Given the description of an element on the screen output the (x, y) to click on. 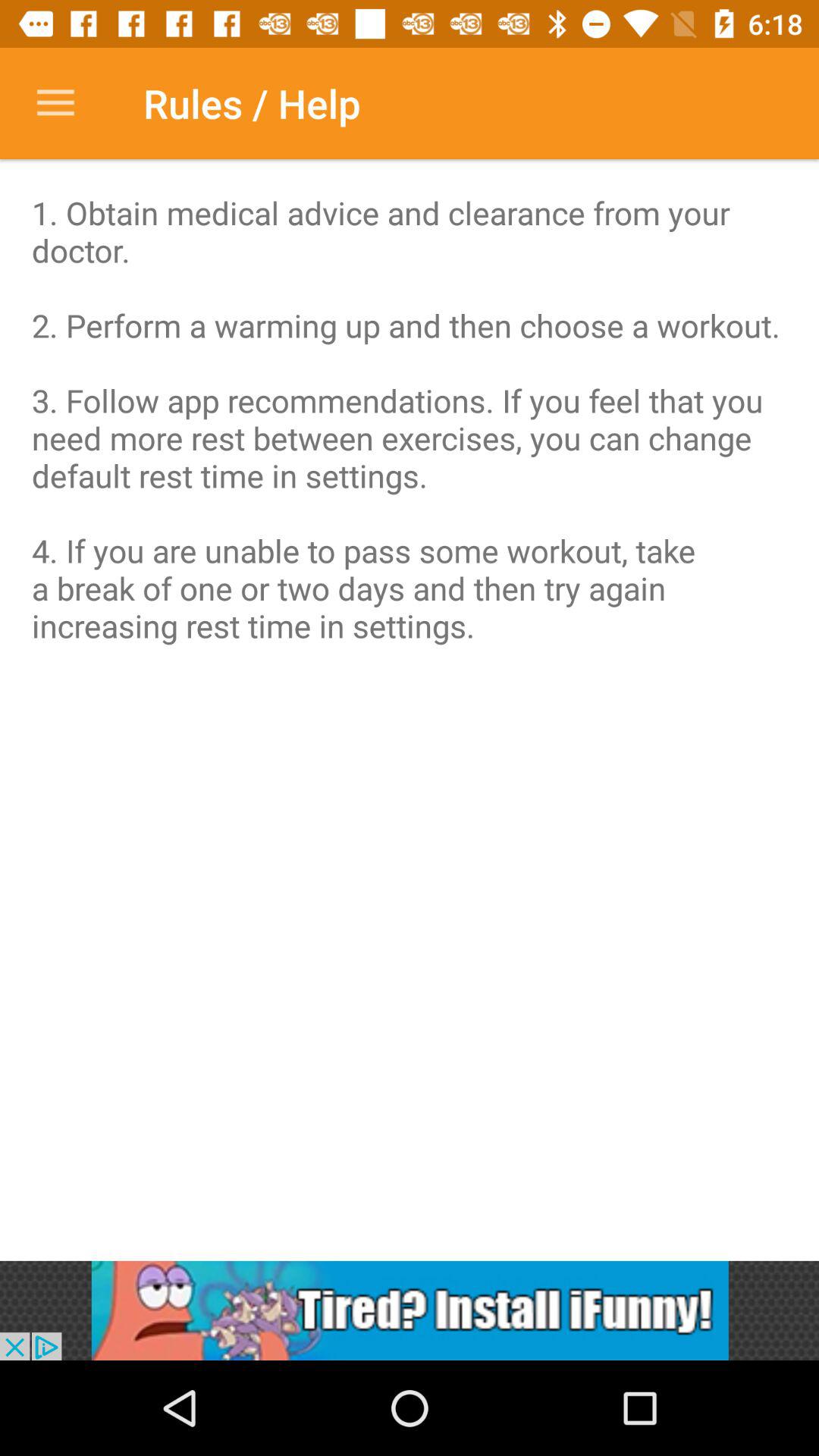
click advertisement (409, 1310)
